Given the description of an element on the screen output the (x, y) to click on. 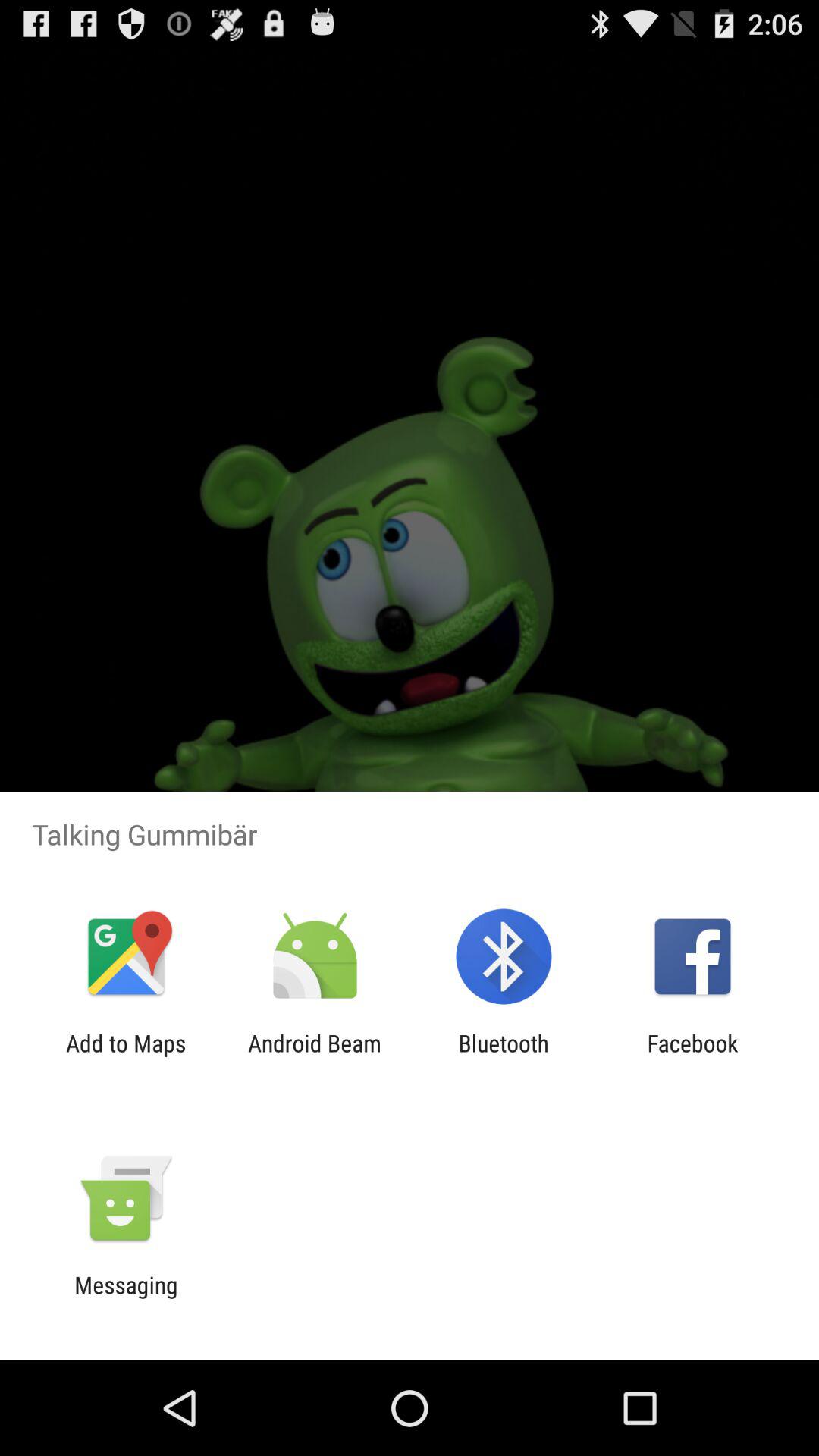
click app next to the bluetooth item (692, 1056)
